Given the description of an element on the screen output the (x, y) to click on. 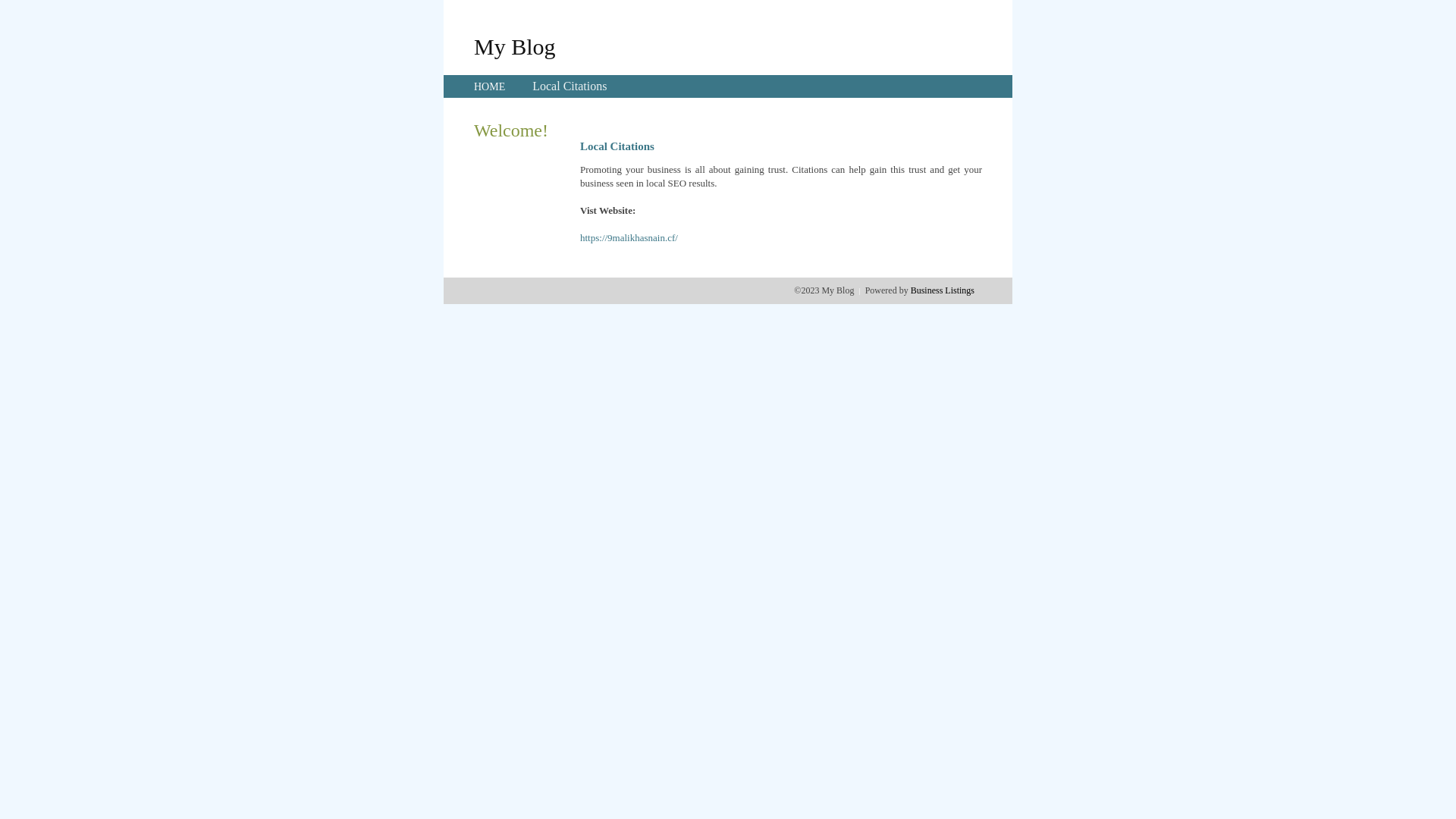
HOME Element type: text (489, 86)
My Blog Element type: text (514, 46)
Local Citations Element type: text (569, 85)
Business Listings Element type: text (942, 290)
https://9malikhasnain.cf/ Element type: text (628, 237)
